Given the description of an element on the screen output the (x, y) to click on. 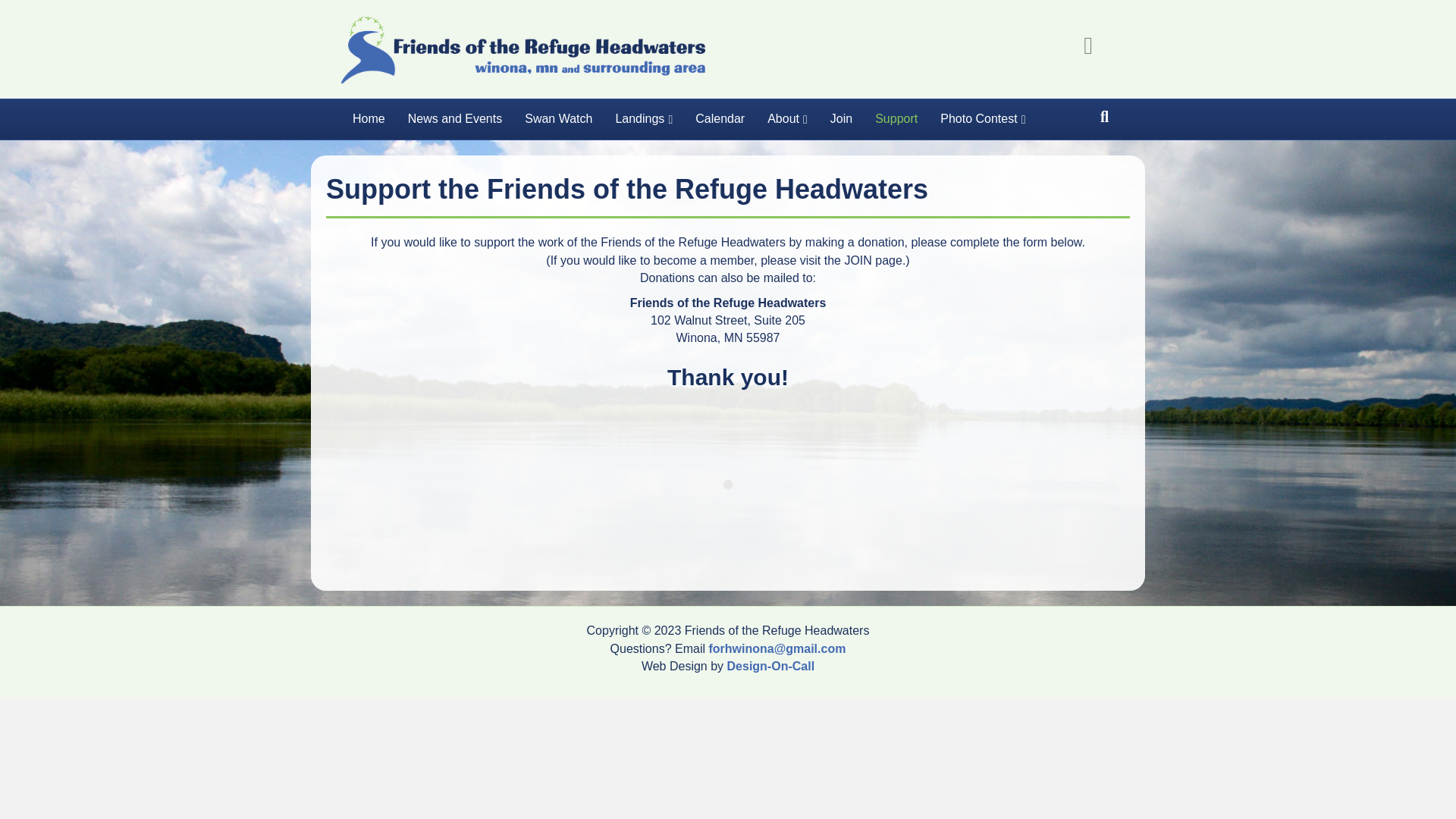
Join (840, 118)
Design-On-Call (770, 666)
Facebook (1088, 45)
Photo Contest (982, 119)
JOIN (857, 259)
News and Events (454, 118)
Home (368, 118)
Calendar (719, 118)
About (786, 119)
Swan Watch (558, 118)
Support (895, 118)
Landings (644, 119)
